Given the description of an element on the screen output the (x, y) to click on. 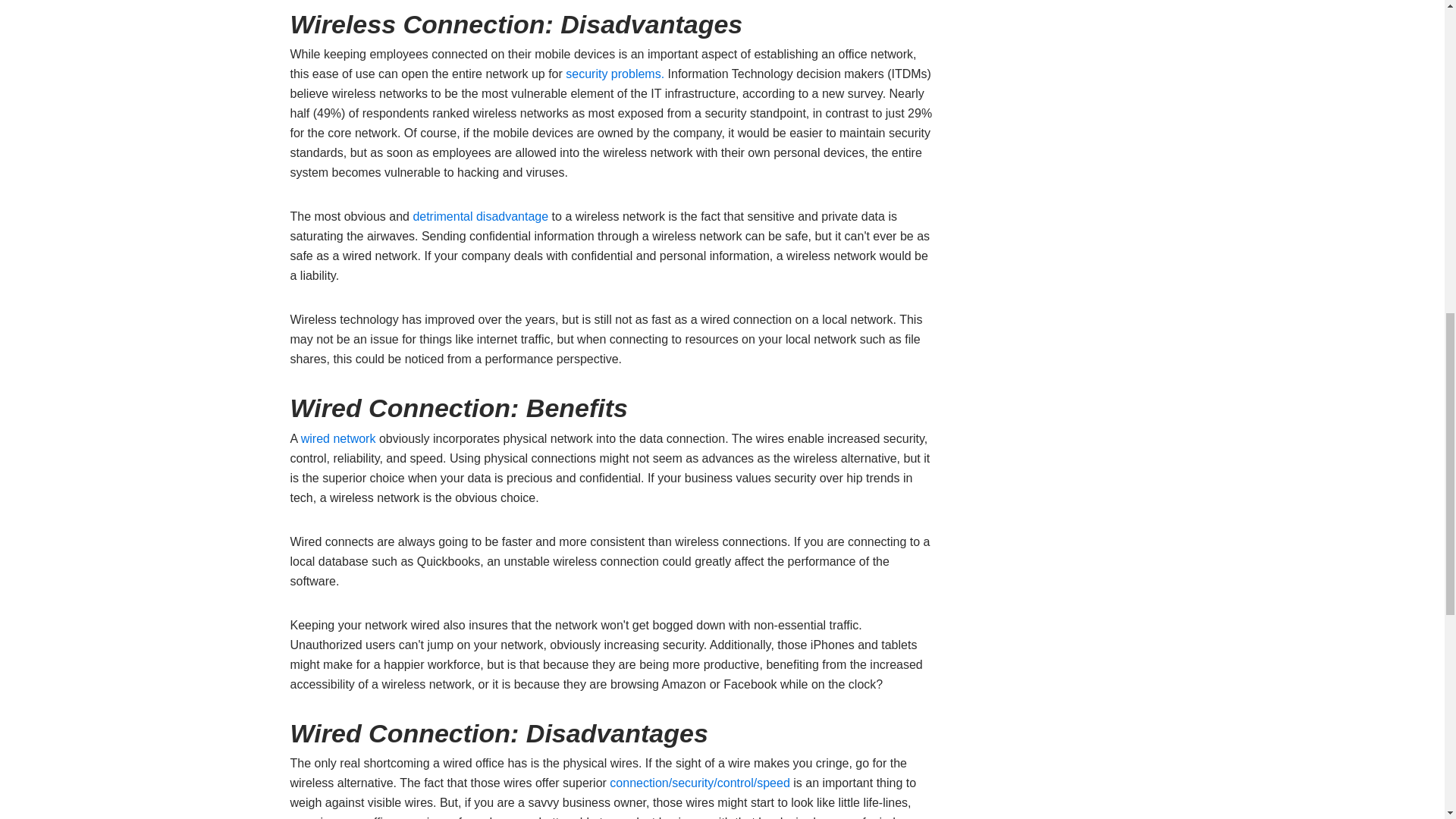
detrimental disadvantage (480, 215)
wired network (338, 438)
security problems. (614, 73)
